Given the description of an element on the screen output the (x, y) to click on. 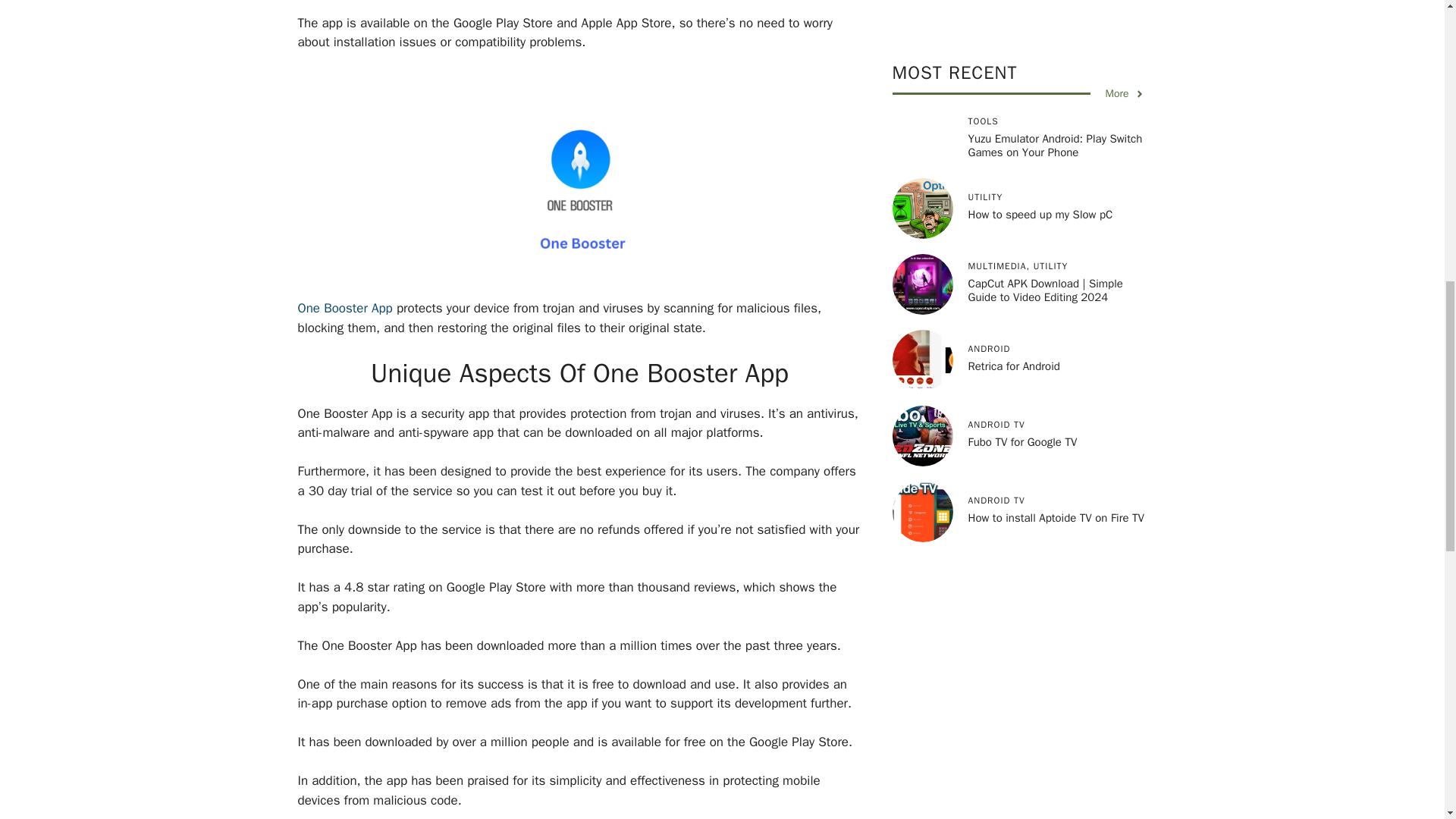
Retrica for Android (1013, 280)
How to speed up my Slow pC (1040, 128)
Yuzu Emulator Android: Play Switch Games on Your Phone (1054, 59)
How to install Aptoide TV on Fire TV (1055, 431)
Fubo TV for Google TV (1022, 356)
One Booster App (344, 308)
More (1124, 7)
